Given the description of an element on the screen output the (x, y) to click on. 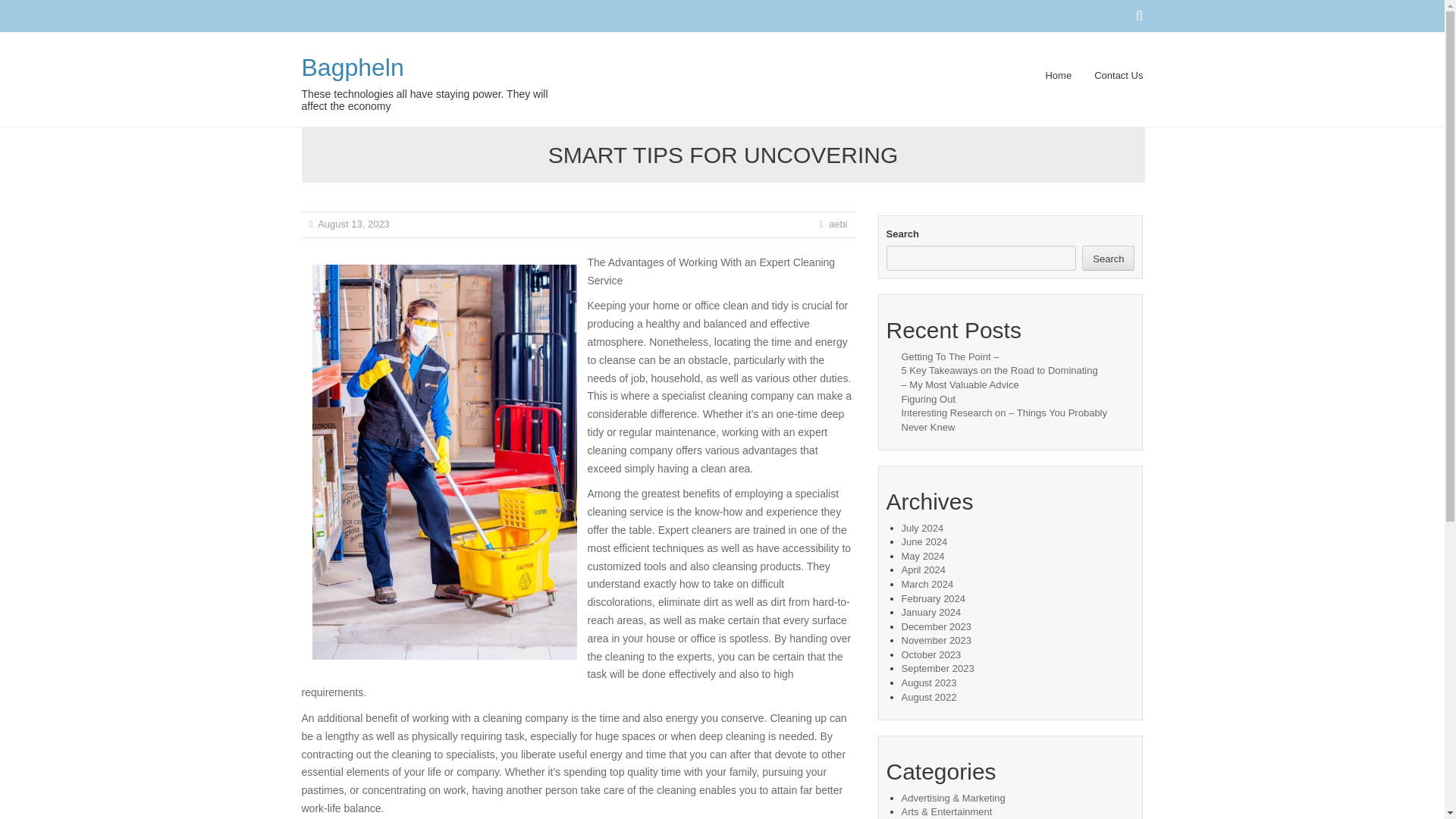
January 2024 (930, 612)
Figuring Out (928, 398)
October 2023 (930, 654)
March 2024 (927, 583)
September 2023 (937, 668)
December 2023 (936, 626)
November 2023 (936, 640)
February 2024 (933, 598)
June 2024 (924, 541)
Bagpheln (352, 67)
August 13, 2023 (353, 224)
May 2024 (922, 555)
August 2022 (928, 696)
5 Key Takeaways on the Road to Dominating (999, 369)
July 2024 (922, 527)
